Given the description of an element on the screen output the (x, y) to click on. 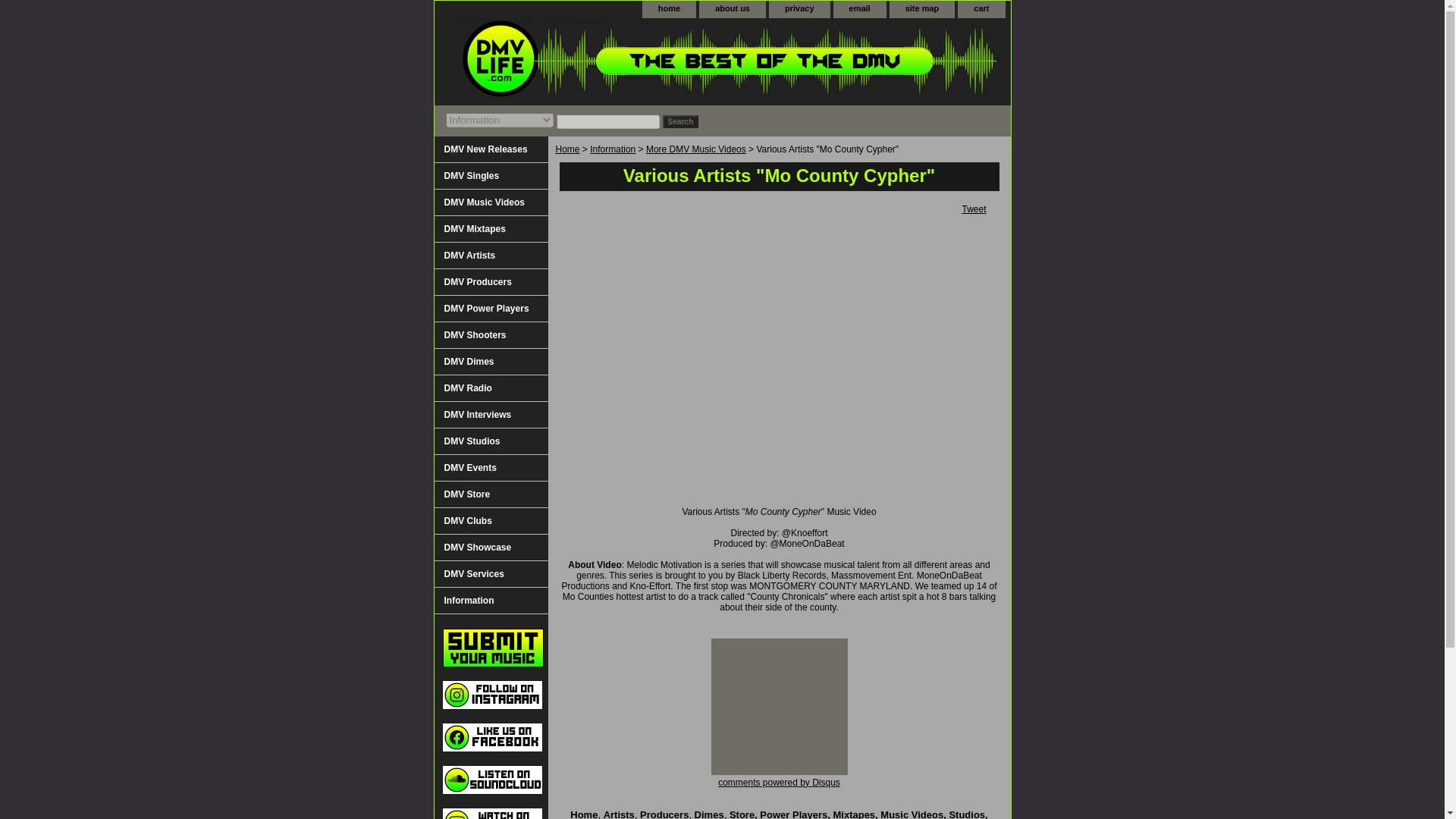
DMV Music Videos (490, 202)
Search (680, 121)
Artists (619, 814)
DMV Studios (490, 441)
DMVLIFE.com (622, 61)
DMV Shooters (490, 335)
DMV Radio (490, 388)
Studios (967, 814)
comments powered by Disqus (778, 782)
Mixtapes (853, 814)
DMV Showcase (490, 547)
DMV Power Players (490, 308)
about us (732, 8)
DMV Store (490, 494)
Power Players (793, 814)
